Given the description of an element on the screen output the (x, y) to click on. 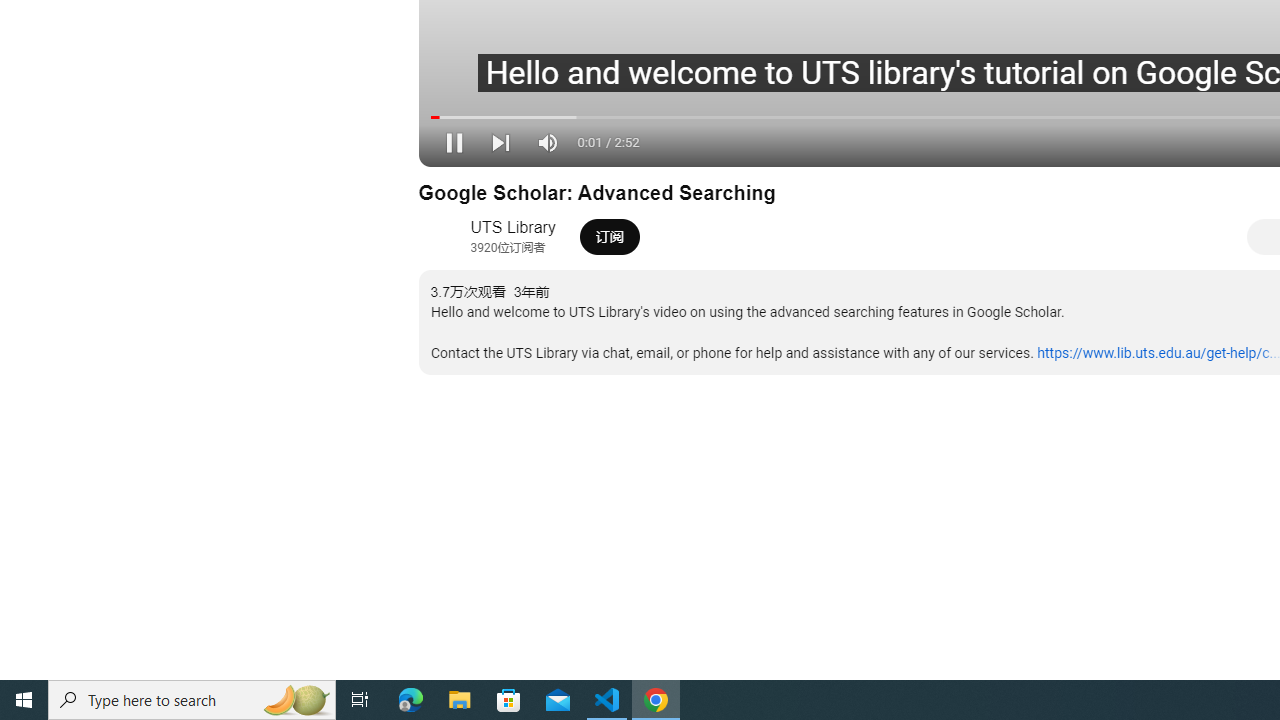
UTS Library (512, 227)
